Given the description of an element on the screen output the (x, y) to click on. 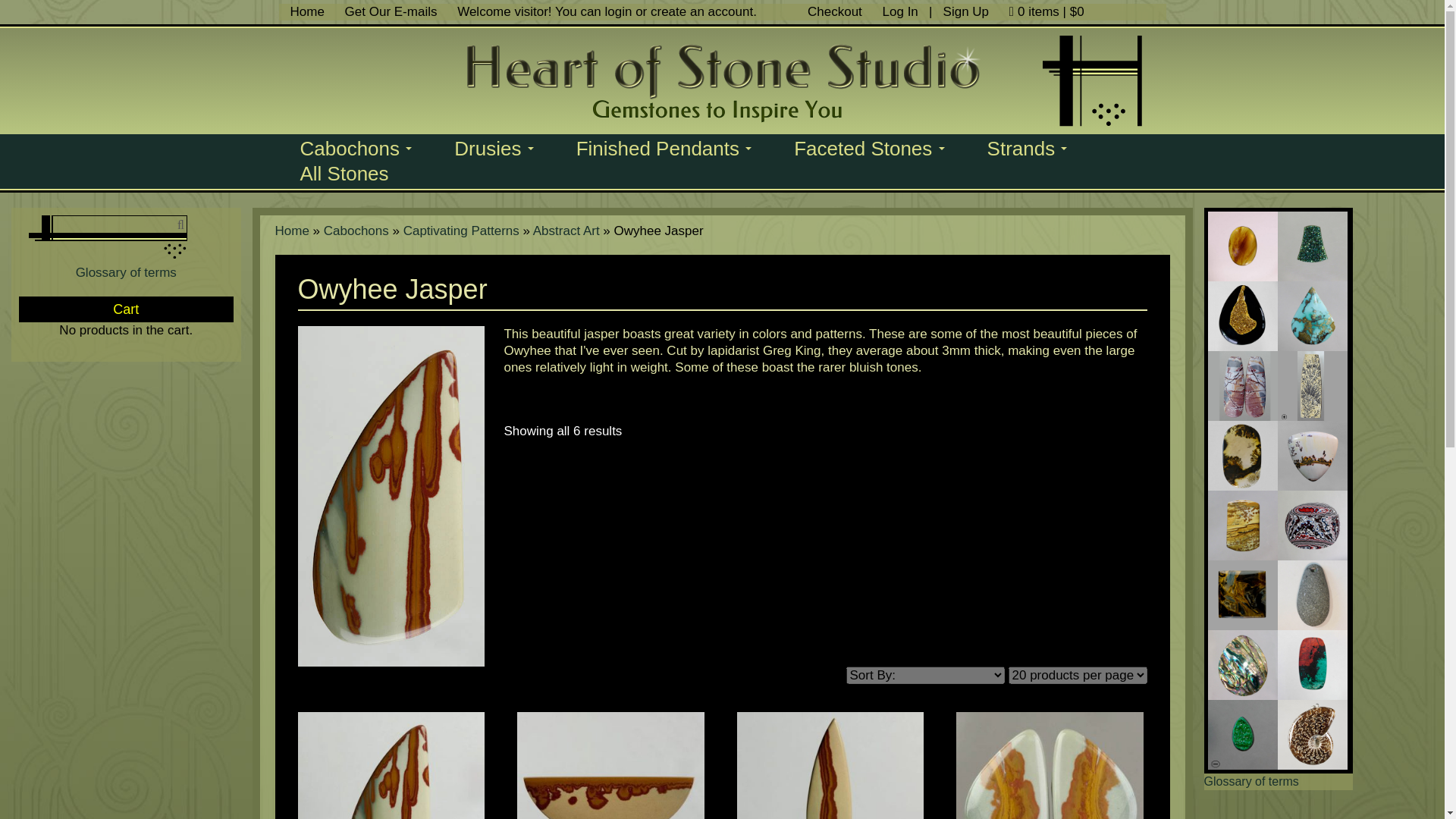
Get Our E-mails (391, 11)
Sign Up (965, 11)
Checkout (834, 11)
Home (306, 11)
View your shopping cart (1046, 11)
login (618, 11)
create an account (701, 11)
Cabochons (356, 146)
Log In (901, 11)
Log In (901, 11)
Sign Up (965, 11)
Cabochons ... (356, 146)
